Given the description of an element on the screen output the (x, y) to click on. 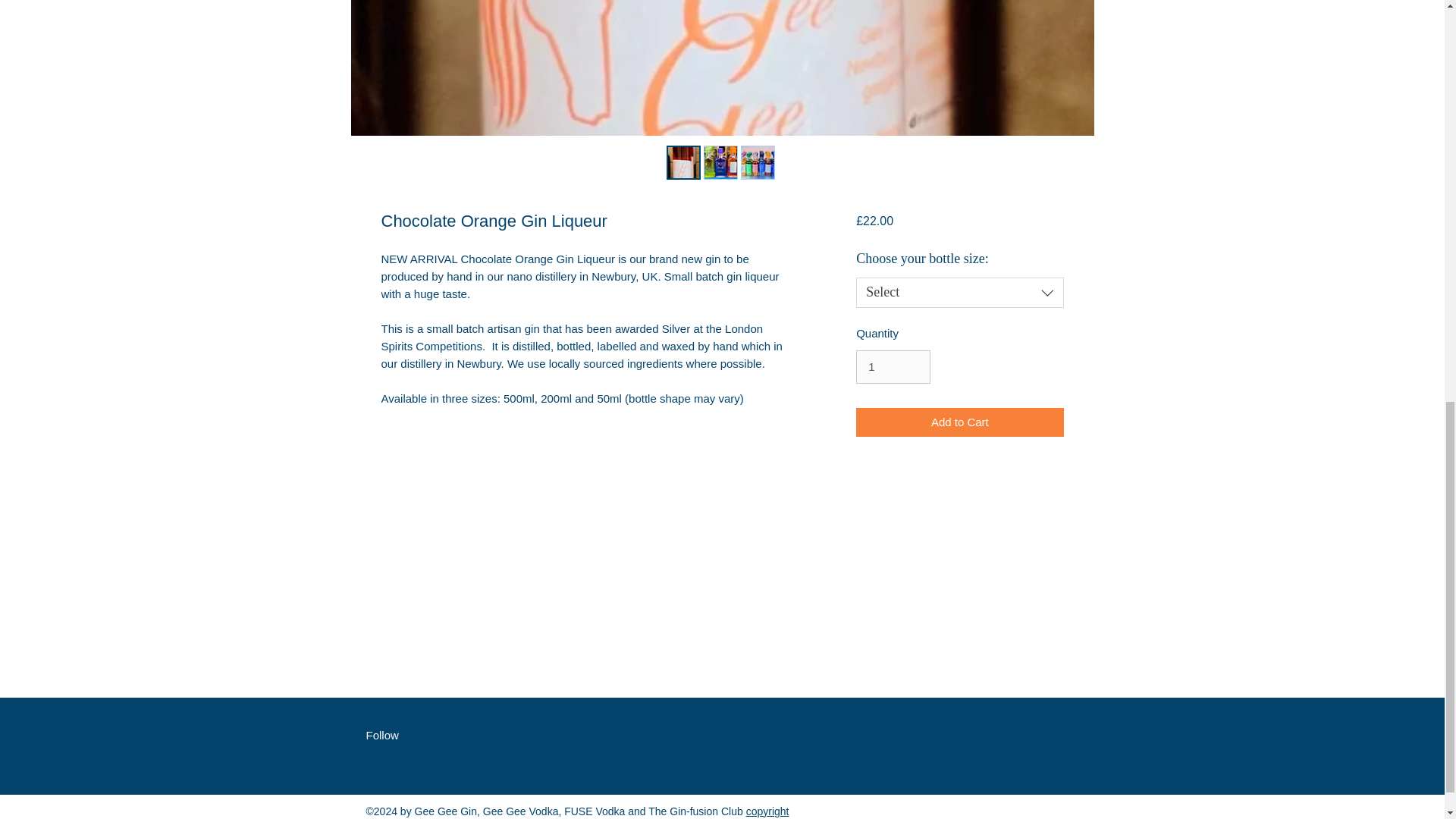
1 (893, 367)
Select (959, 292)
copyright (767, 811)
Add to Cart (959, 422)
